Given the description of an element on the screen output the (x, y) to click on. 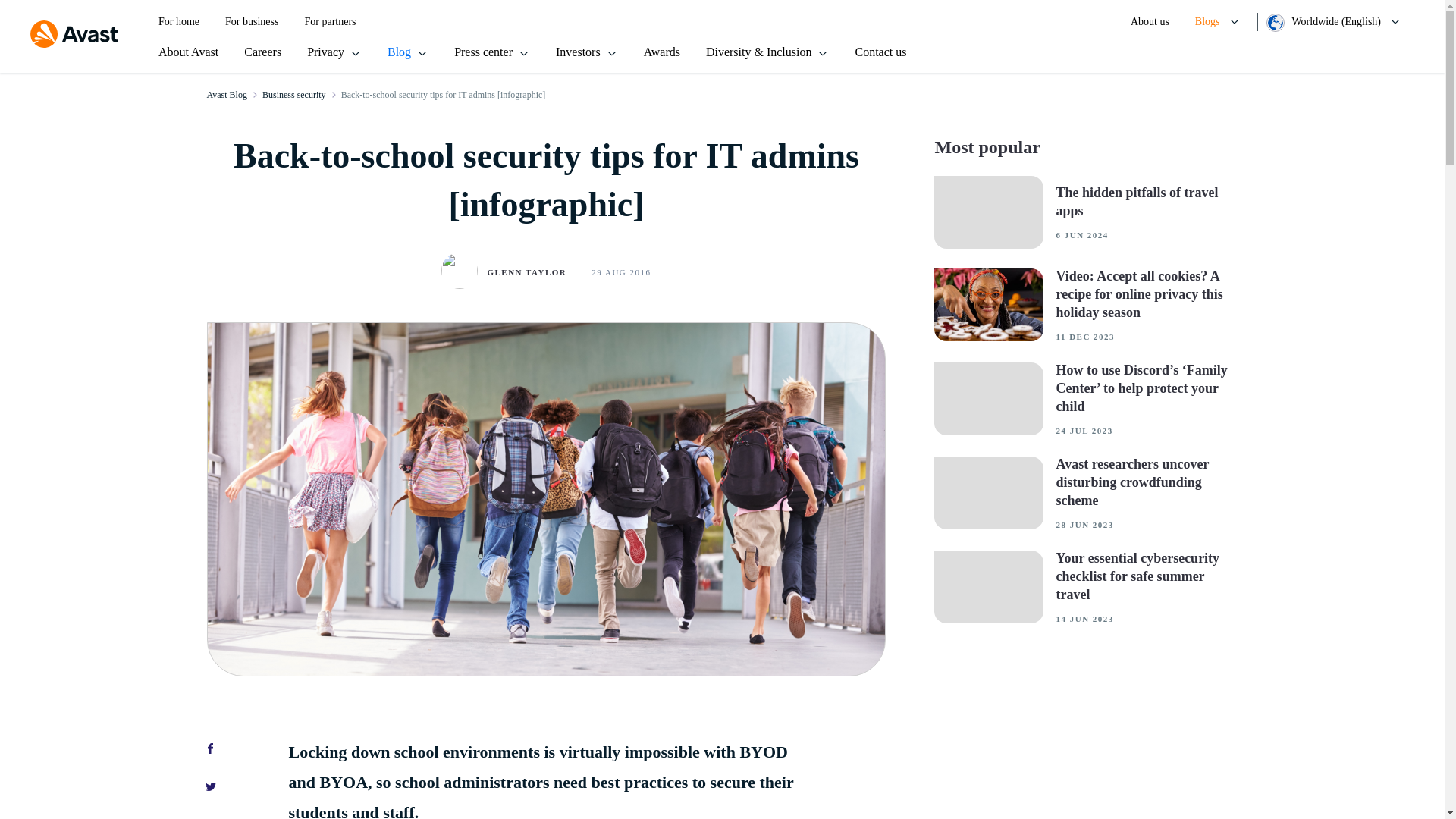
Home (73, 35)
For partners (329, 22)
About us (1150, 22)
For business (251, 22)
For home (178, 22)
